Given the description of an element on the screen output the (x, y) to click on. 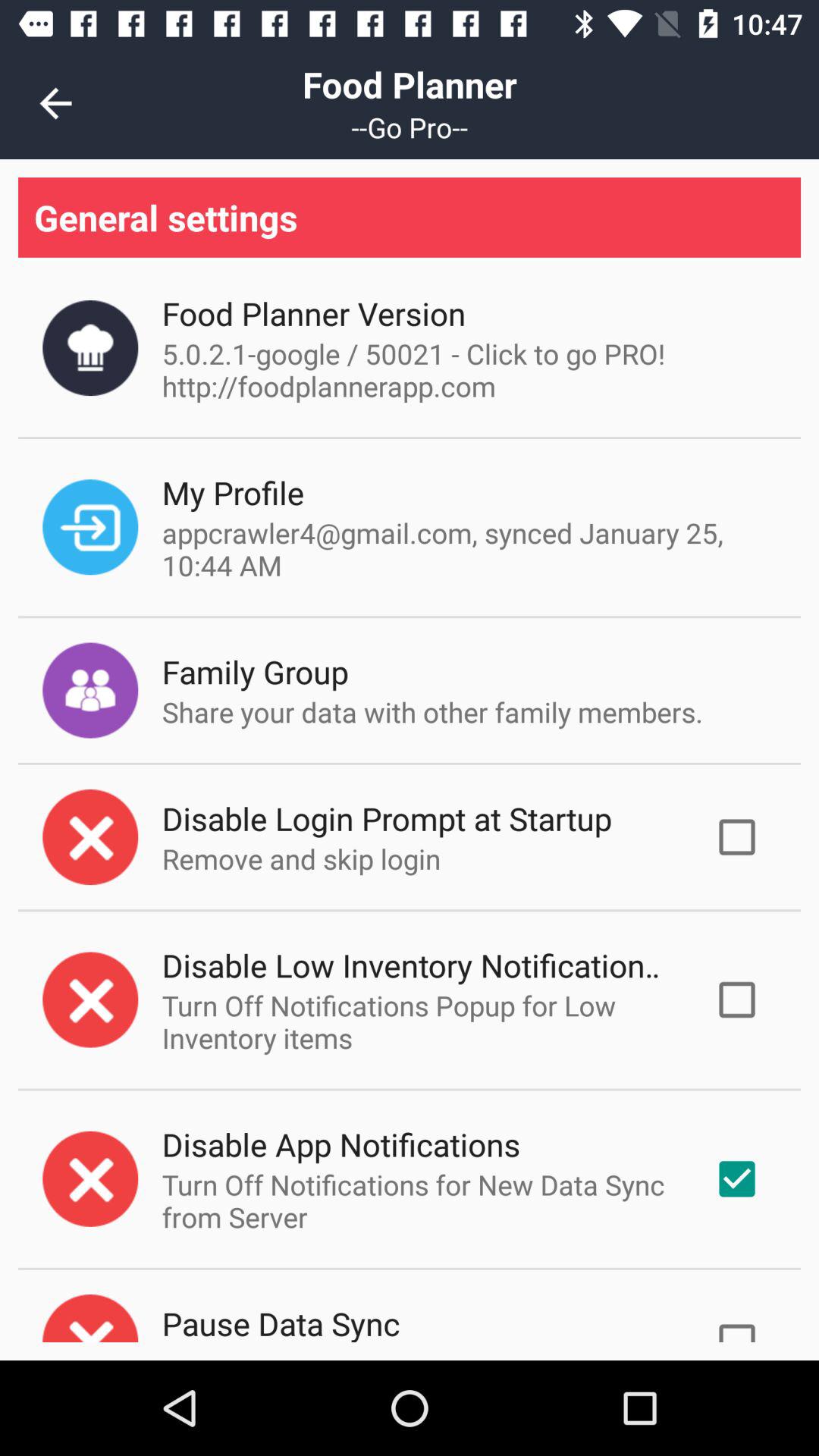
choose item above the general settings icon (55, 103)
